Given the description of an element on the screen output the (x, y) to click on. 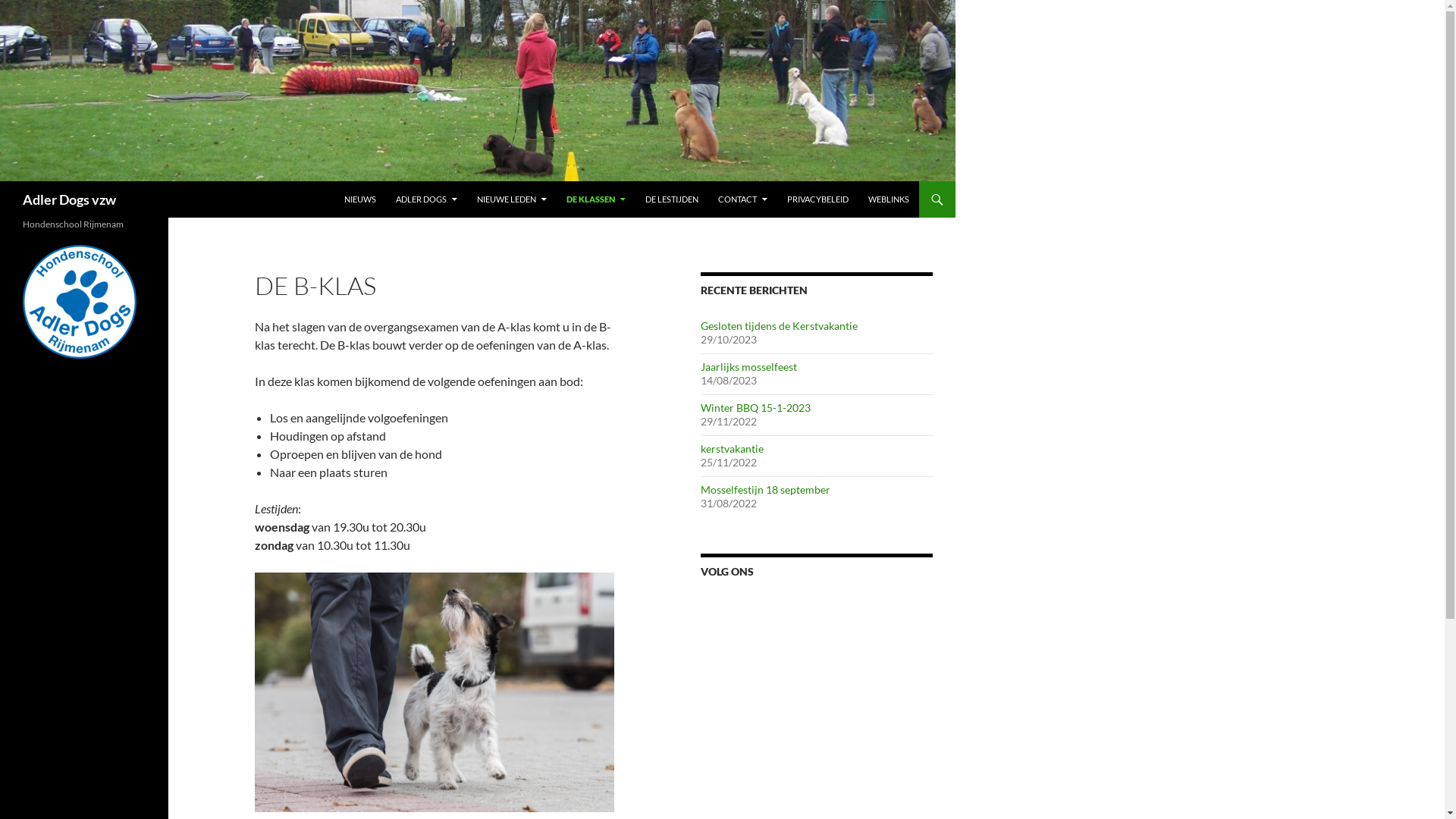
NIEUWE LEDEN Element type: text (511, 199)
Jaarlijks mosselfeest Element type: text (748, 366)
PRIVACYBELEID Element type: text (817, 199)
kerstvakantie Element type: text (731, 448)
CONTACT Element type: text (742, 199)
ADLER DOGS Element type: text (426, 199)
Zoeken Element type: text (3, 181)
Adler Dogs vzw Element type: text (69, 199)
Gesloten tijdens de Kerstvakantie Element type: text (778, 325)
NIEUWS Element type: text (360, 199)
DE LESTIJDEN Element type: text (671, 199)
Mosselfestijn 18 september Element type: text (765, 489)
WEBLINKS Element type: text (888, 199)
DE KLASSEN Element type: text (595, 199)
SPRING NAAR INHOUD Element type: text (344, 181)
Winter BBQ 15-1-2023 Element type: text (755, 407)
